Given the description of an element on the screen output the (x, y) to click on. 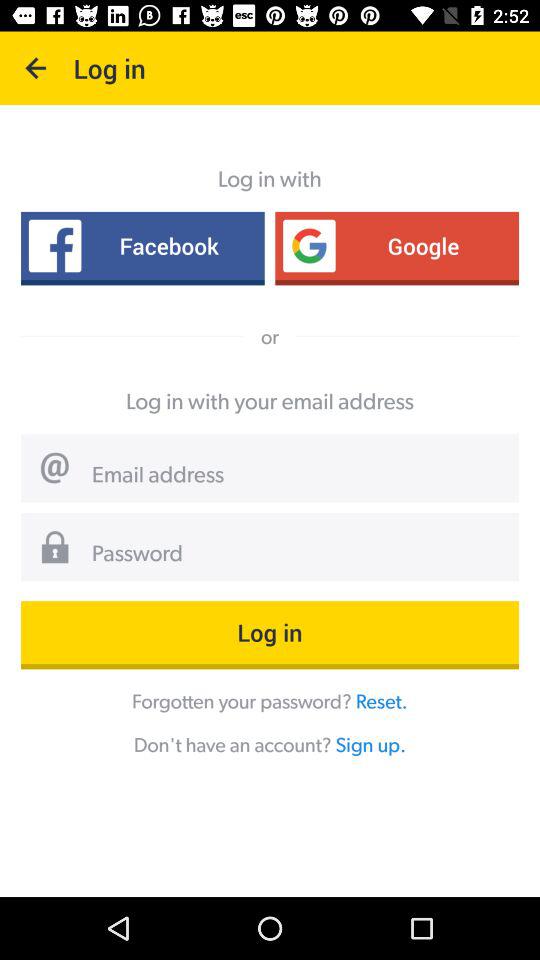
enter email address (298, 475)
